Given the description of an element on the screen output the (x, y) to click on. 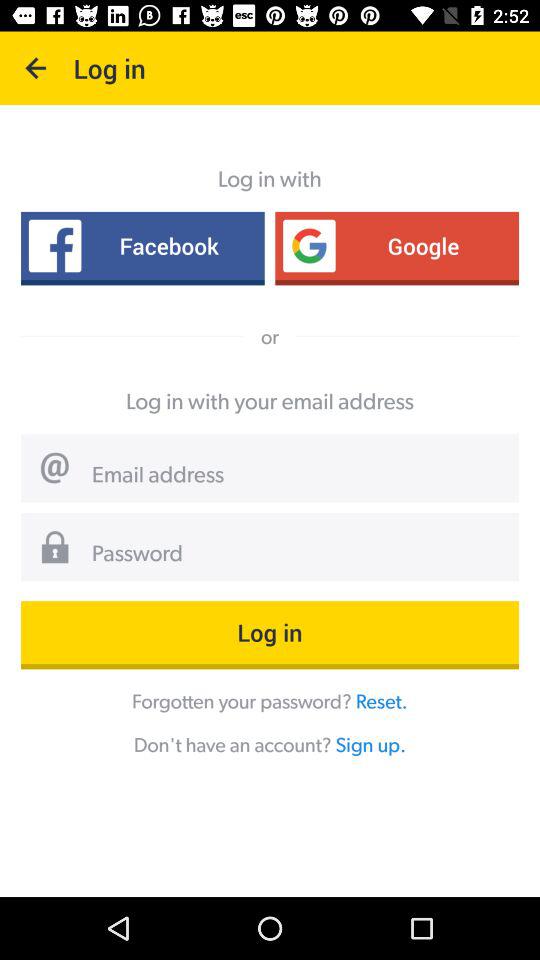
enter email address (298, 475)
